Given the description of an element on the screen output the (x, y) to click on. 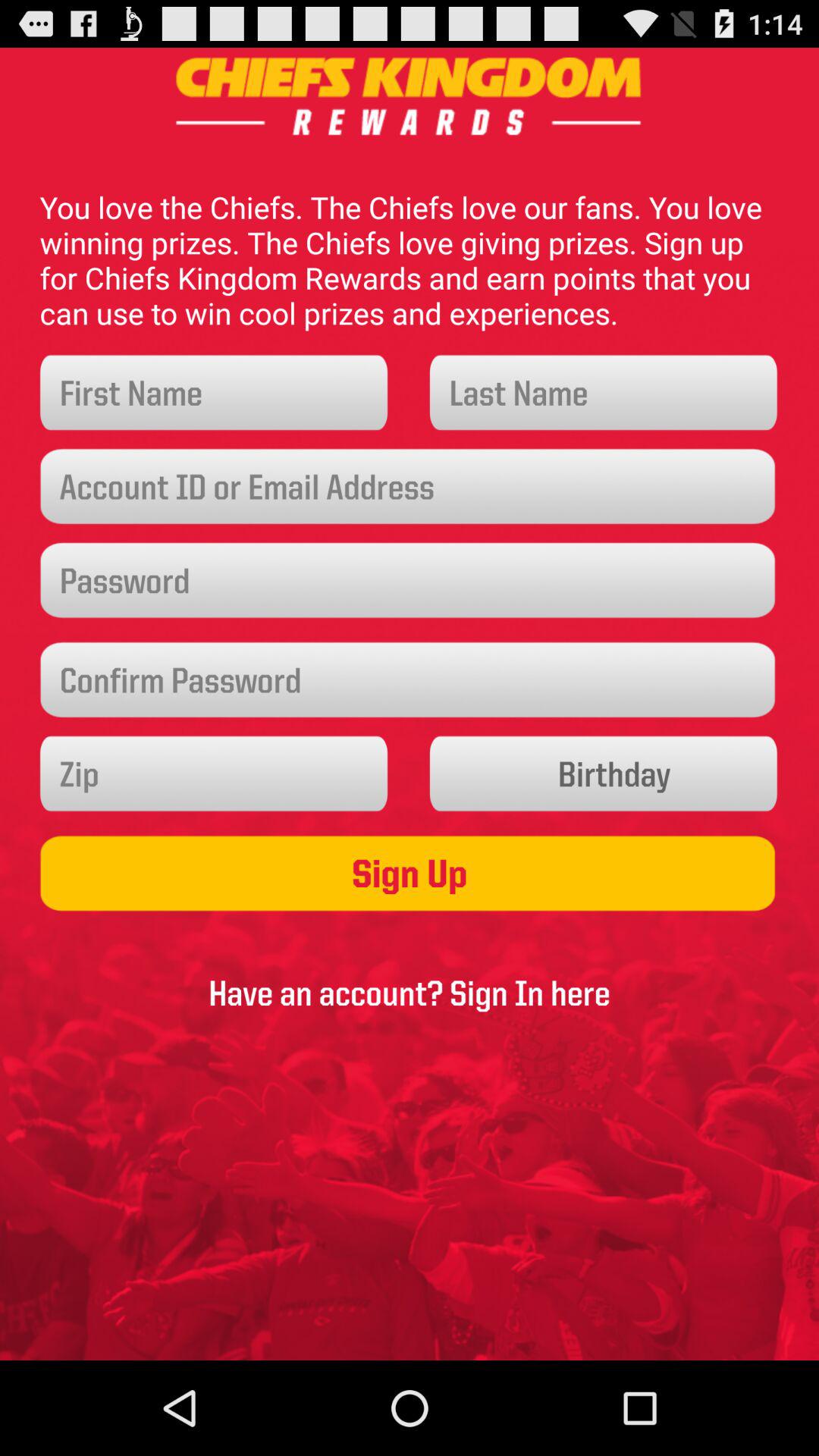
input id (409, 486)
